Given the description of an element on the screen output the (x, y) to click on. 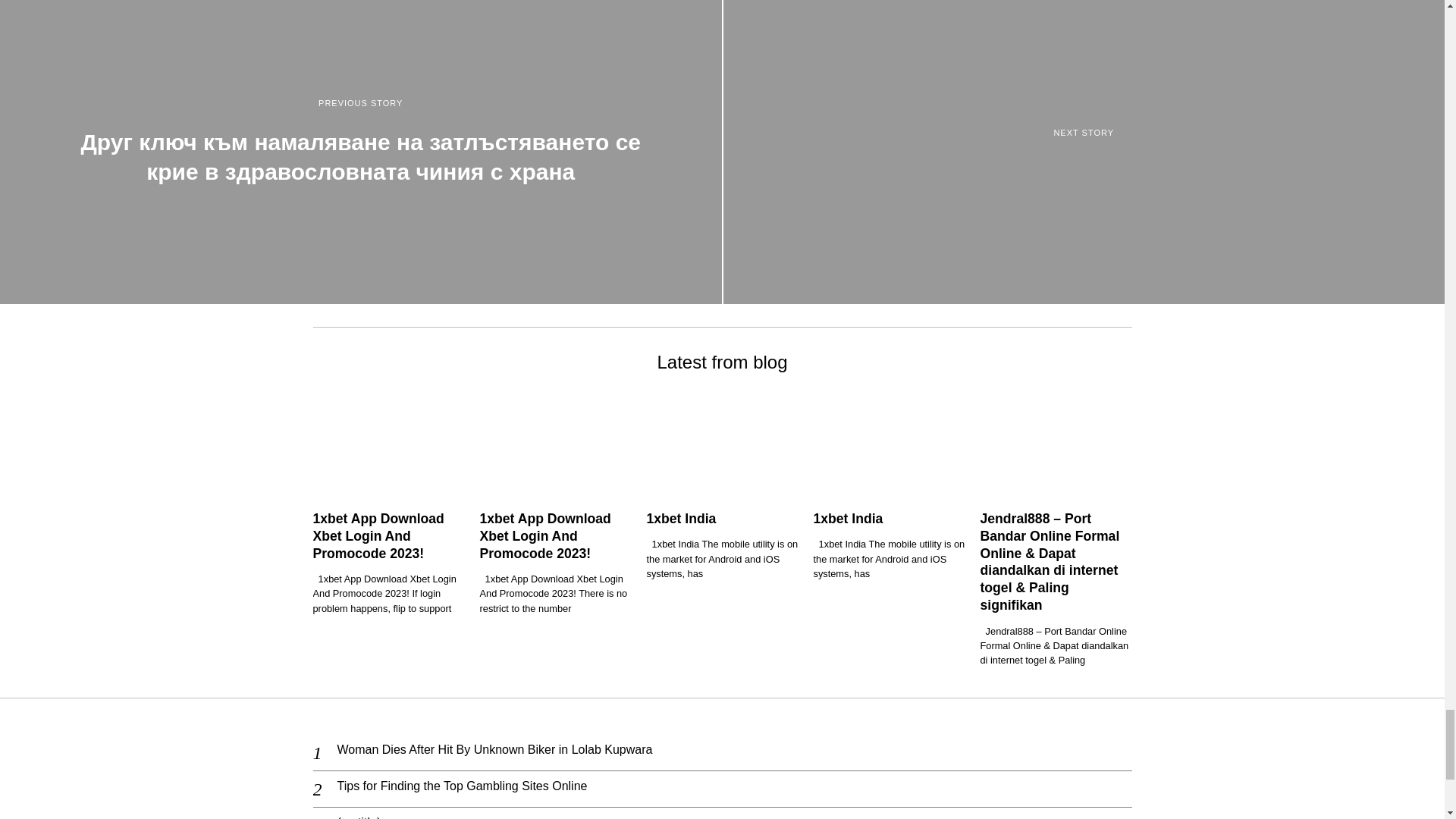
1xbet App Download Xbet Login And Promocode 2023! (378, 536)
